Given the description of an element on the screen output the (x, y) to click on. 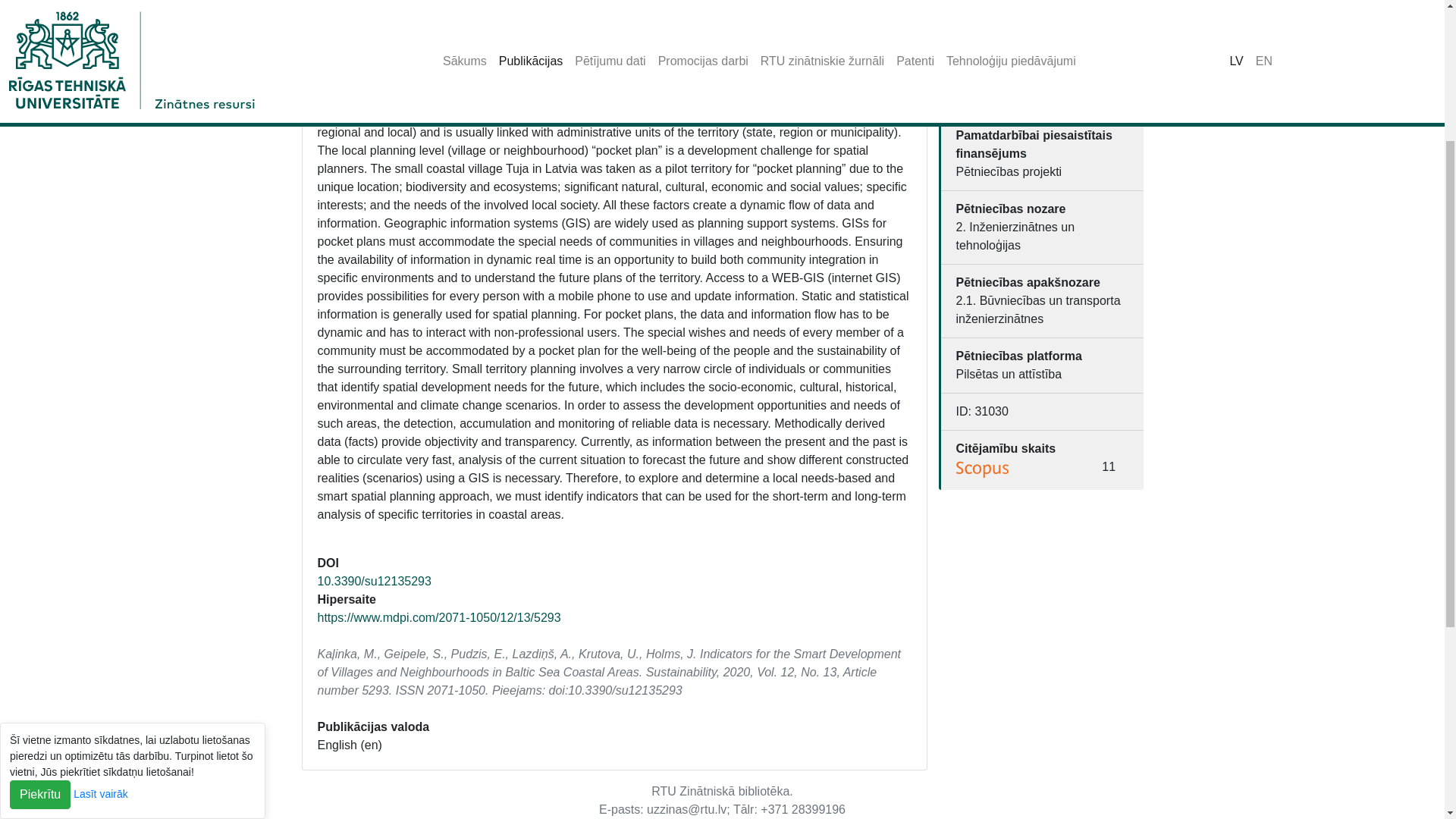
Scopus (982, 468)
Jurijs Holms (766, 77)
Edgars Pudzis (520, 77)
Una Krutova (692, 77)
